Given the description of an element on the screen output the (x, y) to click on. 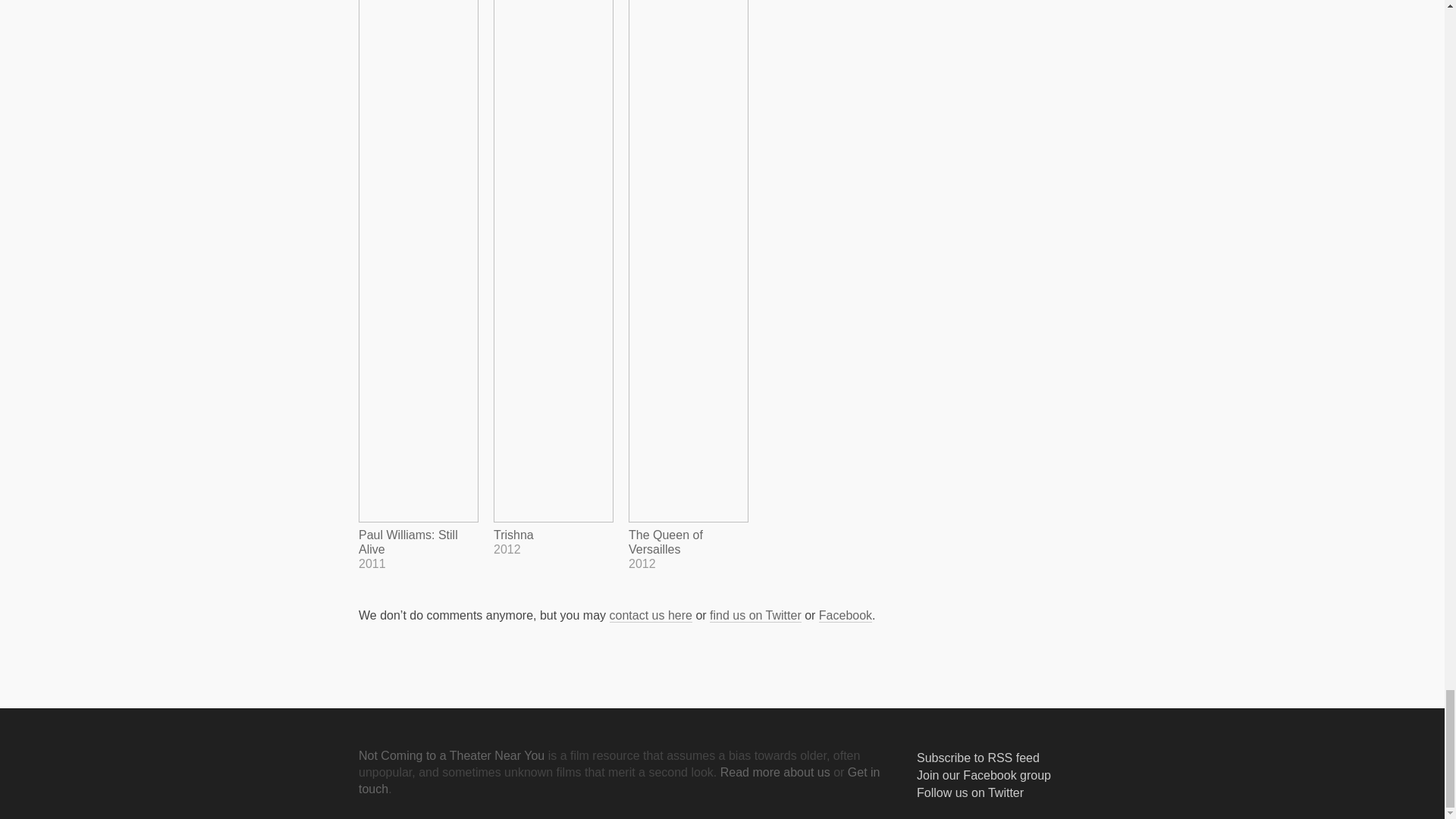
Facebook (845, 615)
contact us here (651, 615)
find us on Twitter (756, 615)
